Given the description of an element on the screen output the (x, y) to click on. 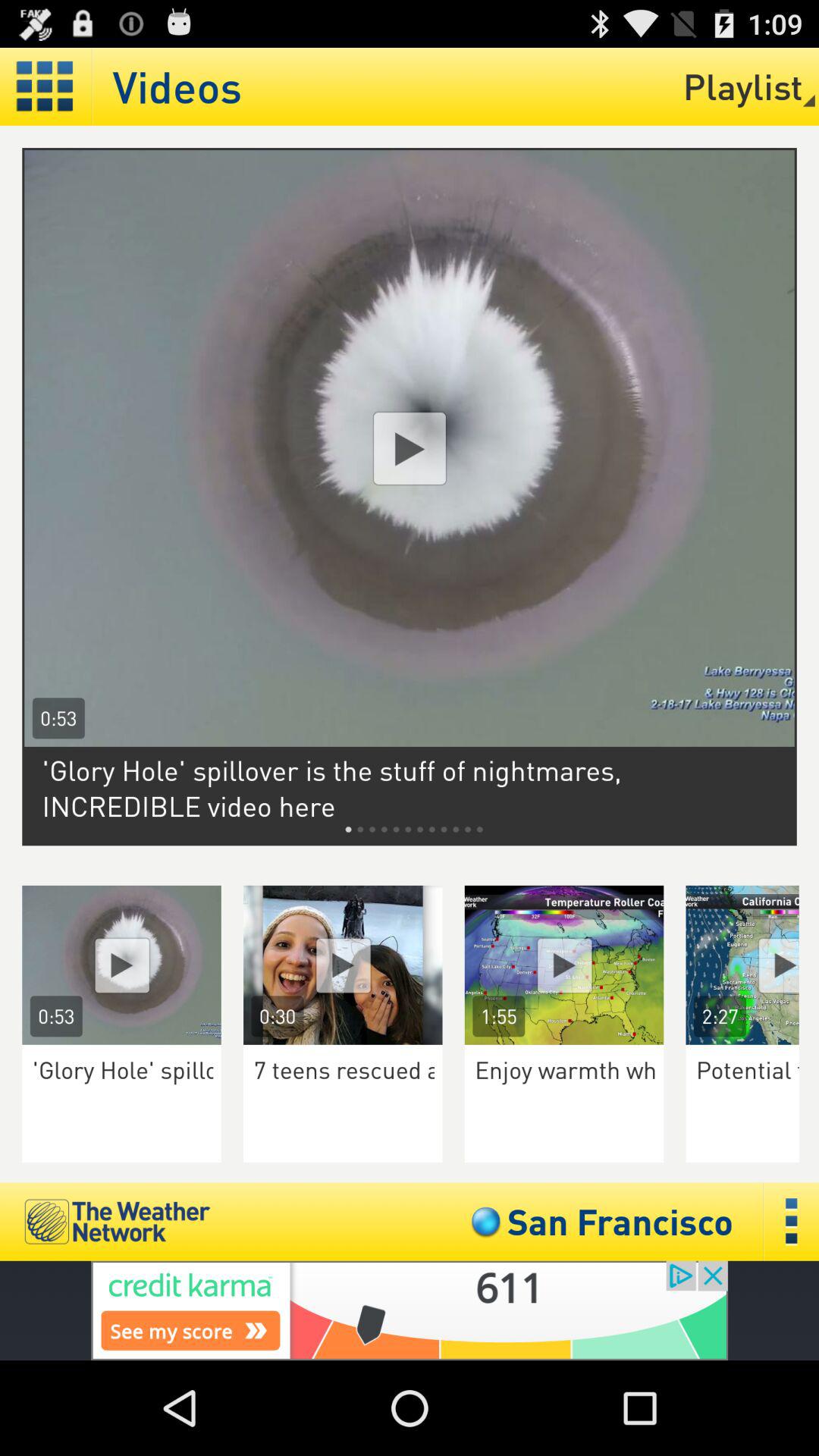
menu button (791, 1221)
